Given the description of an element on the screen output the (x, y) to click on. 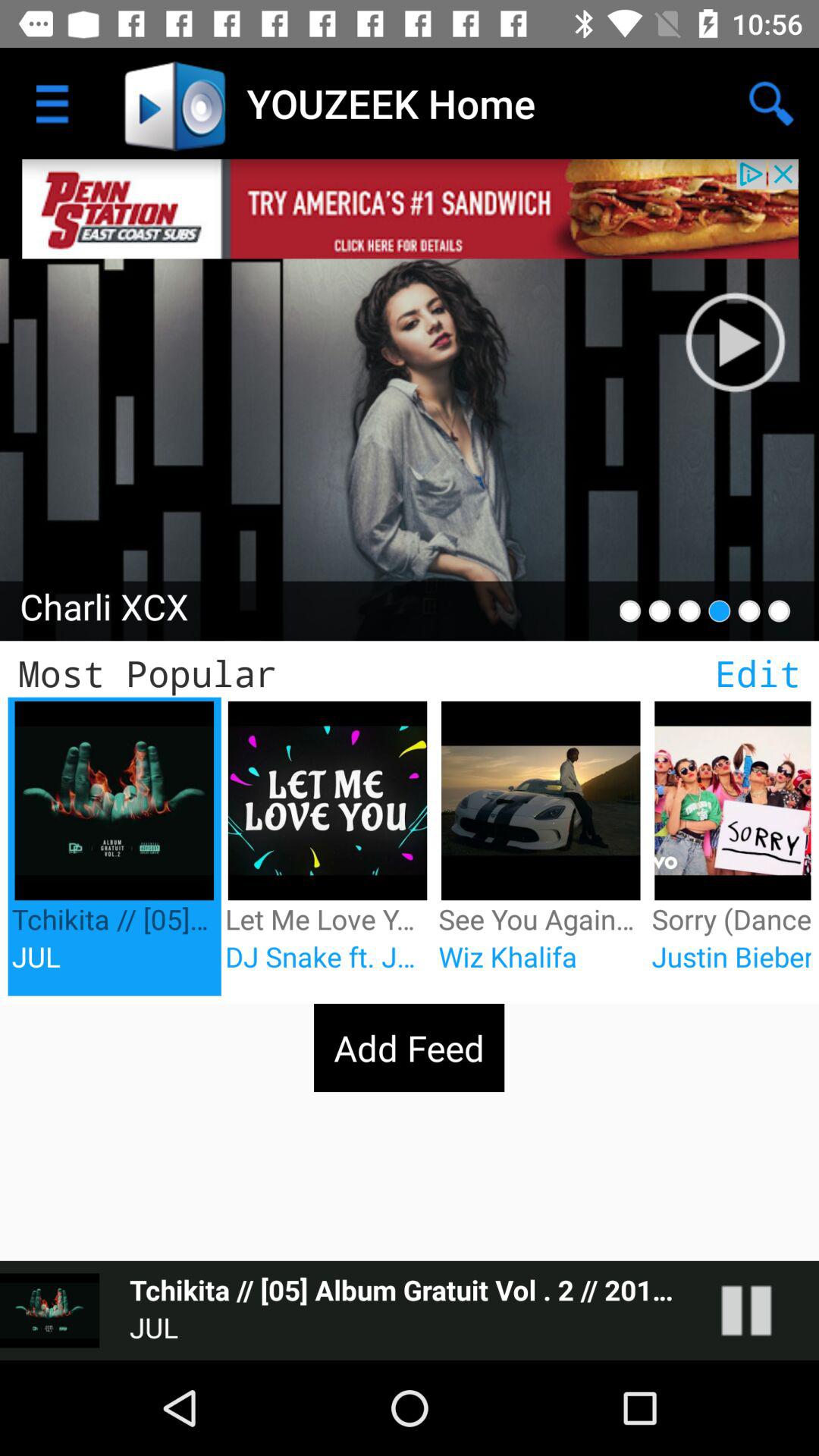
go to search (751, 326)
